Given the description of an element on the screen output the (x, y) to click on. 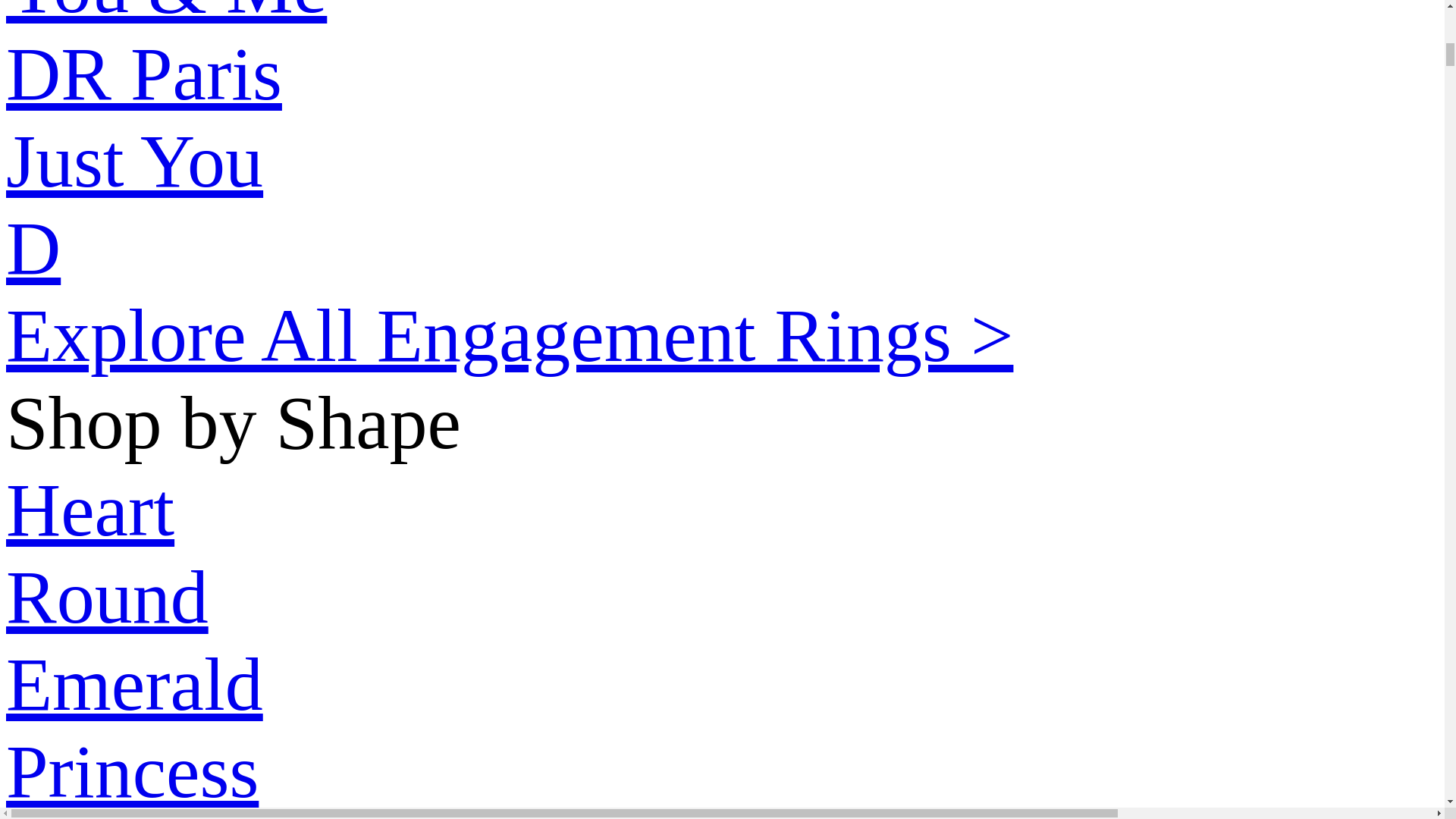
Emerald (721, 684)
Round (721, 596)
Just You (134, 160)
DR Paris (143, 73)
Heart (721, 509)
Princess (721, 771)
